Given the description of an element on the screen output the (x, y) to click on. 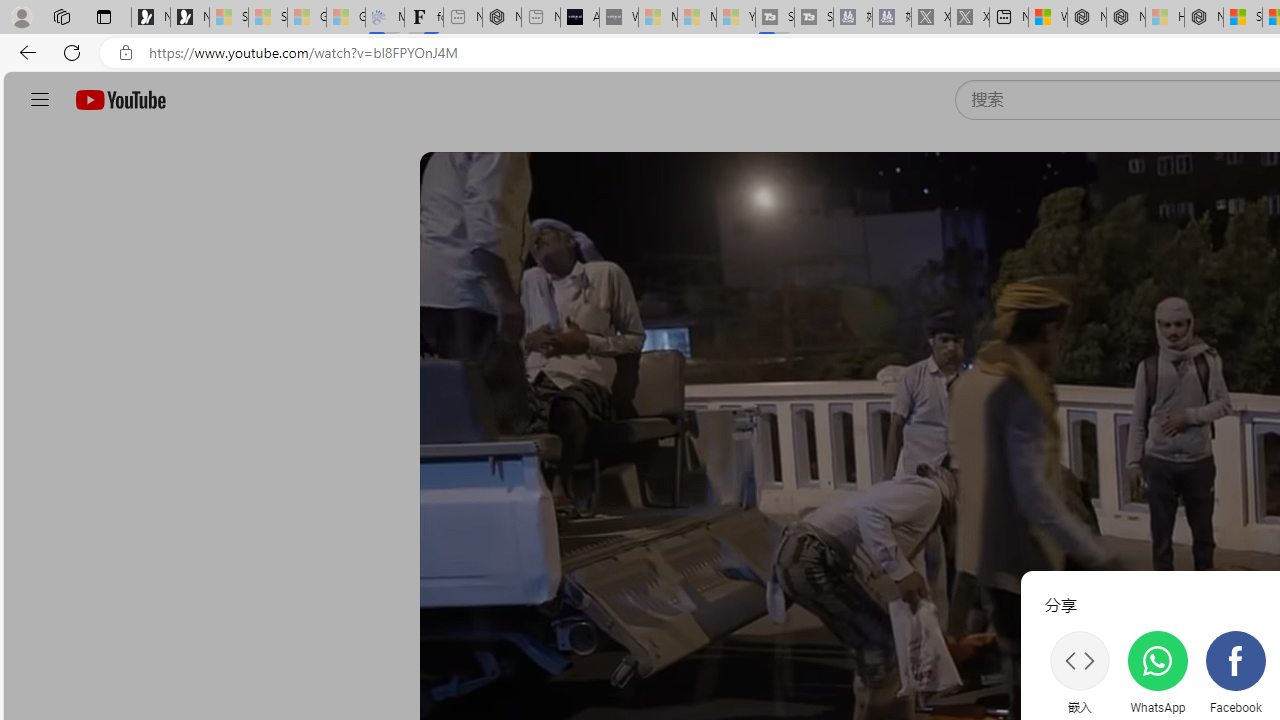
Facebook (1235, 672)
Newsletter Sign Up (189, 17)
